Given the description of an element on the screen output the (x, y) to click on. 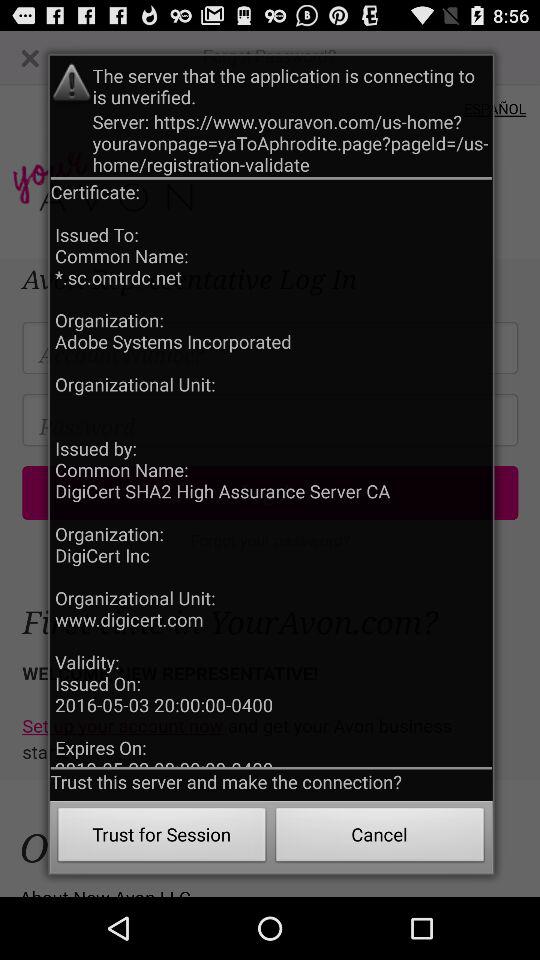
press item to the right of trust for session icon (380, 837)
